Given the description of an element on the screen output the (x, y) to click on. 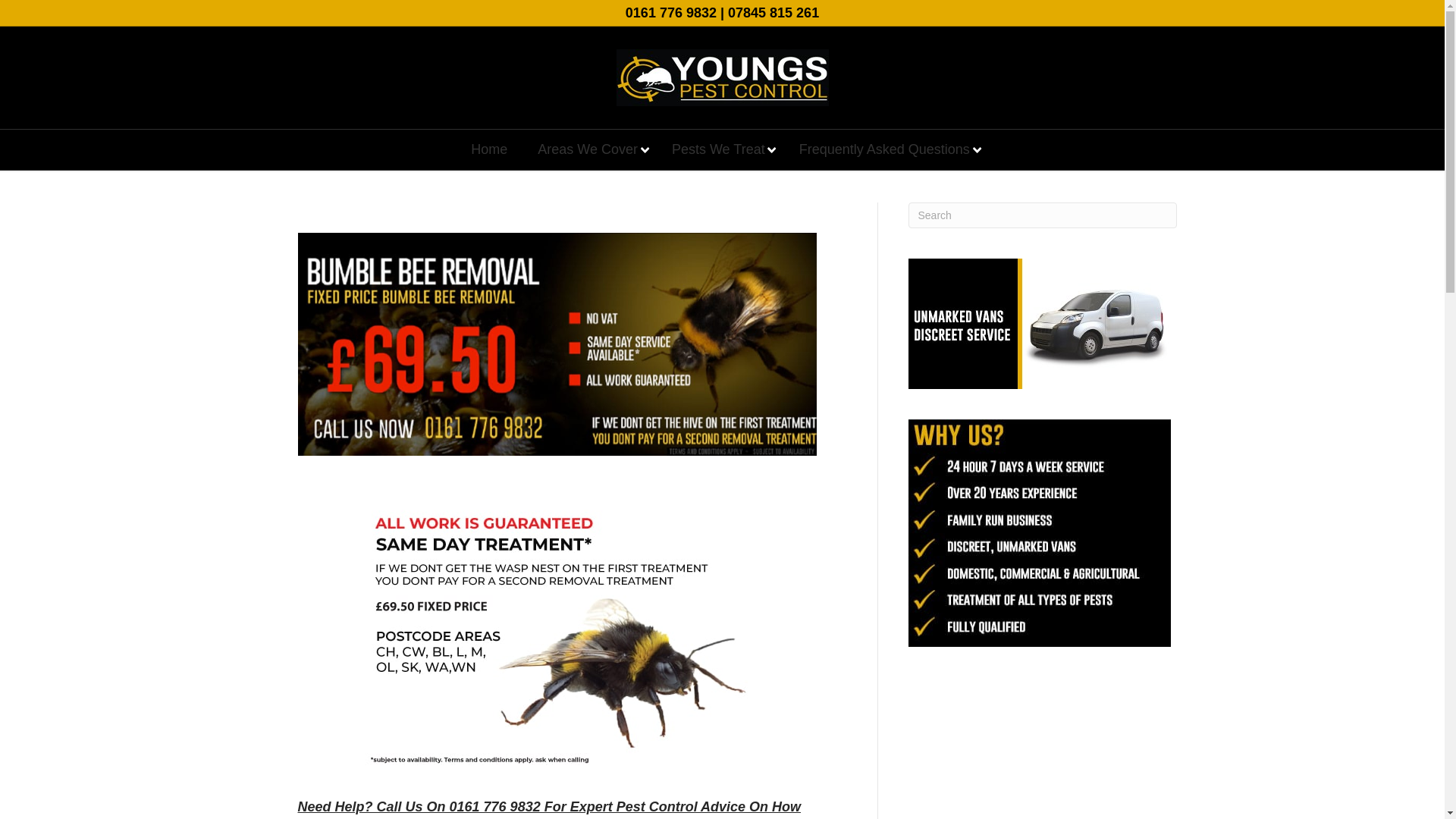
0161 776 9832 (671, 12)
Home (488, 149)
07845 815 261 (773, 12)
bumblebee control (556, 626)
bumblebee control (556, 343)
Type and press Enter to search. (1042, 215)
Frequently Asked Questions (886, 149)
Pests We Treat (720, 149)
Areas We Cover (589, 149)
